Given the description of an element on the screen output the (x, y) to click on. 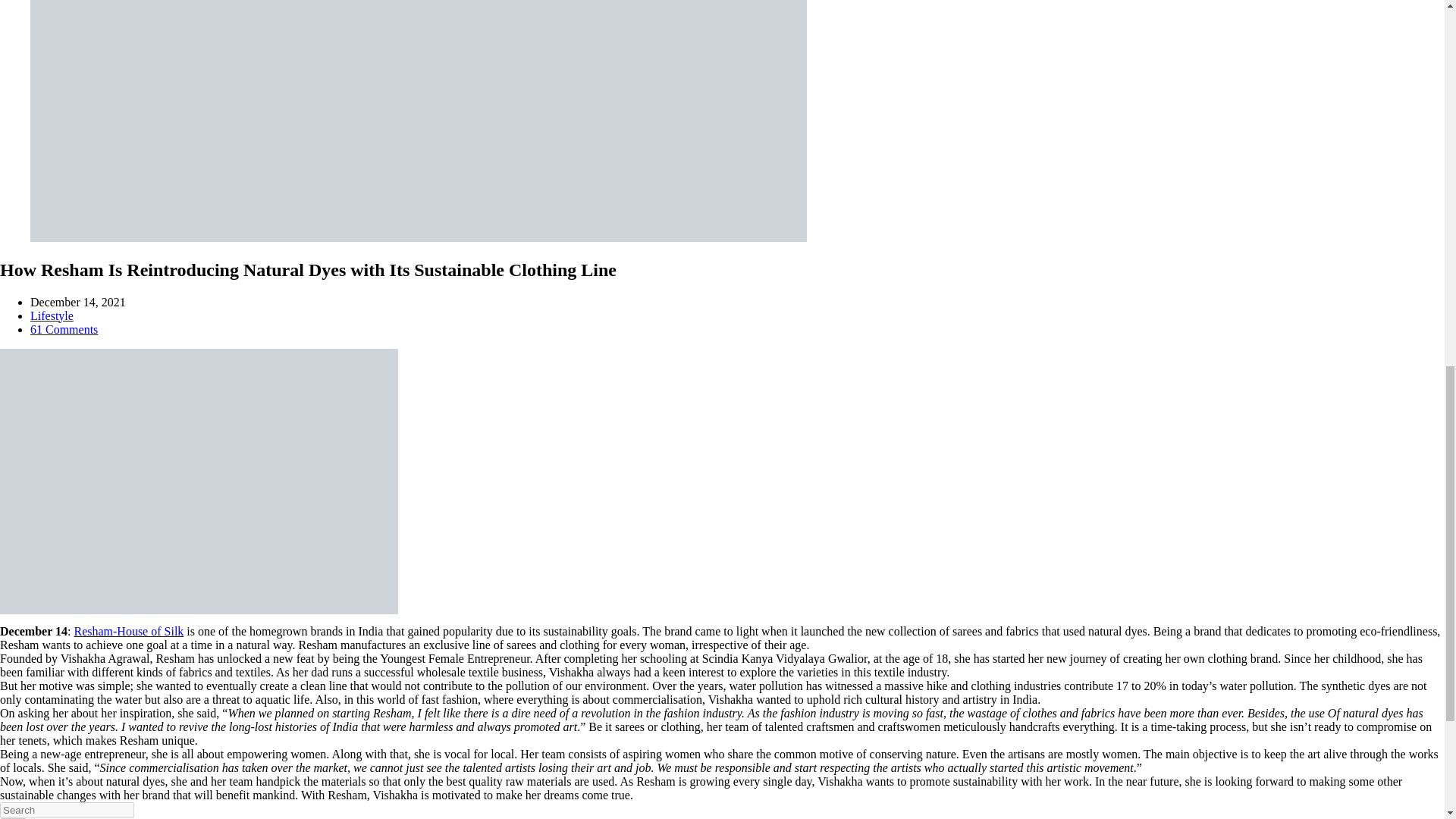
Lifestyle (52, 315)
61 Comments (63, 328)
Resham-House of Silk (128, 631)
Search for... (66, 810)
